Given the description of an element on the screen output the (x, y) to click on. 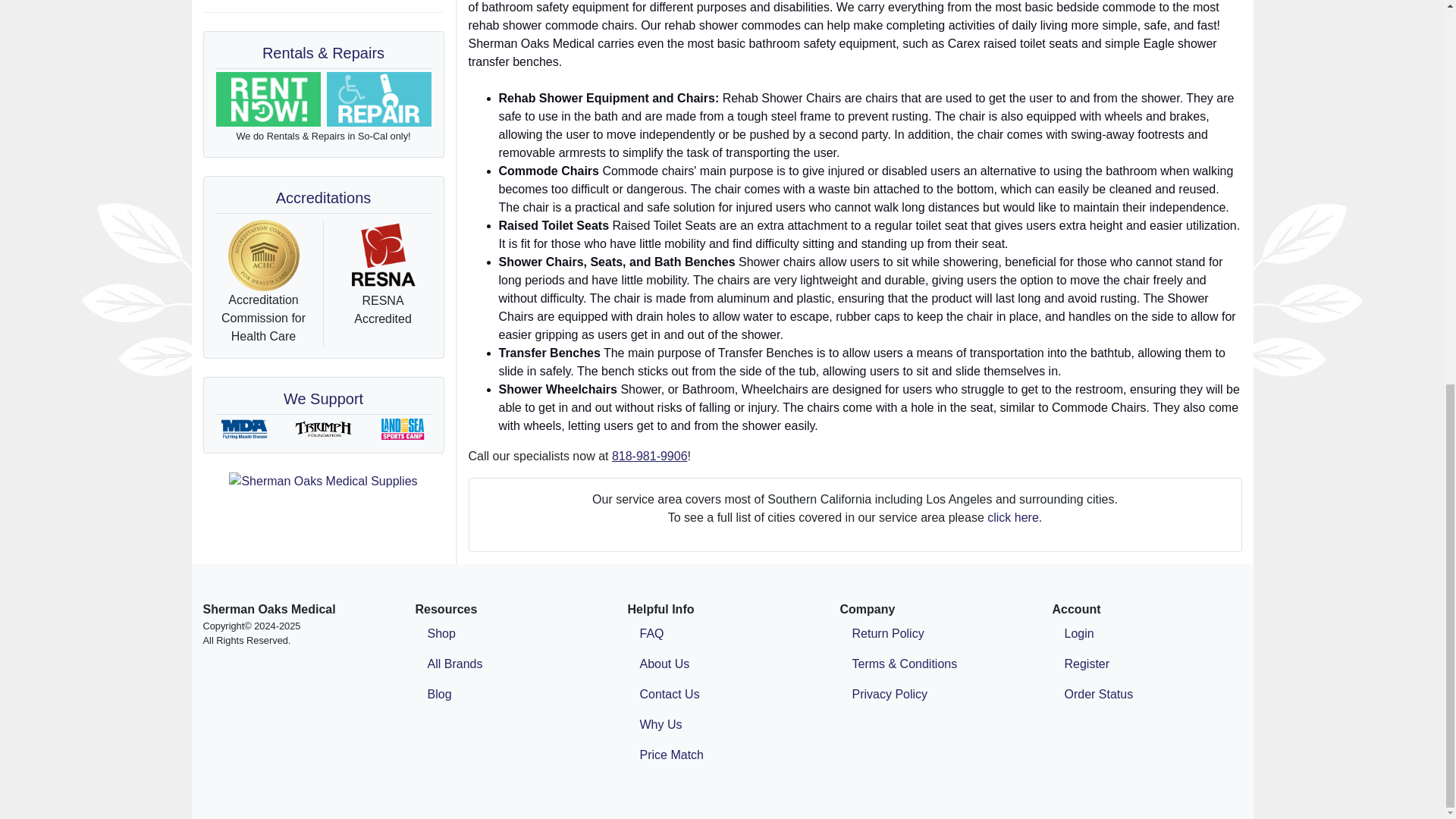
RESNA Accredited (382, 255)
Medical Equipment Rentals (267, 99)
Medical Equipment Repair (378, 99)
Land Meets Sea Sports Camp (402, 428)
Accreditation Commission for Health Care (263, 255)
